Given the description of an element on the screen output the (x, y) to click on. 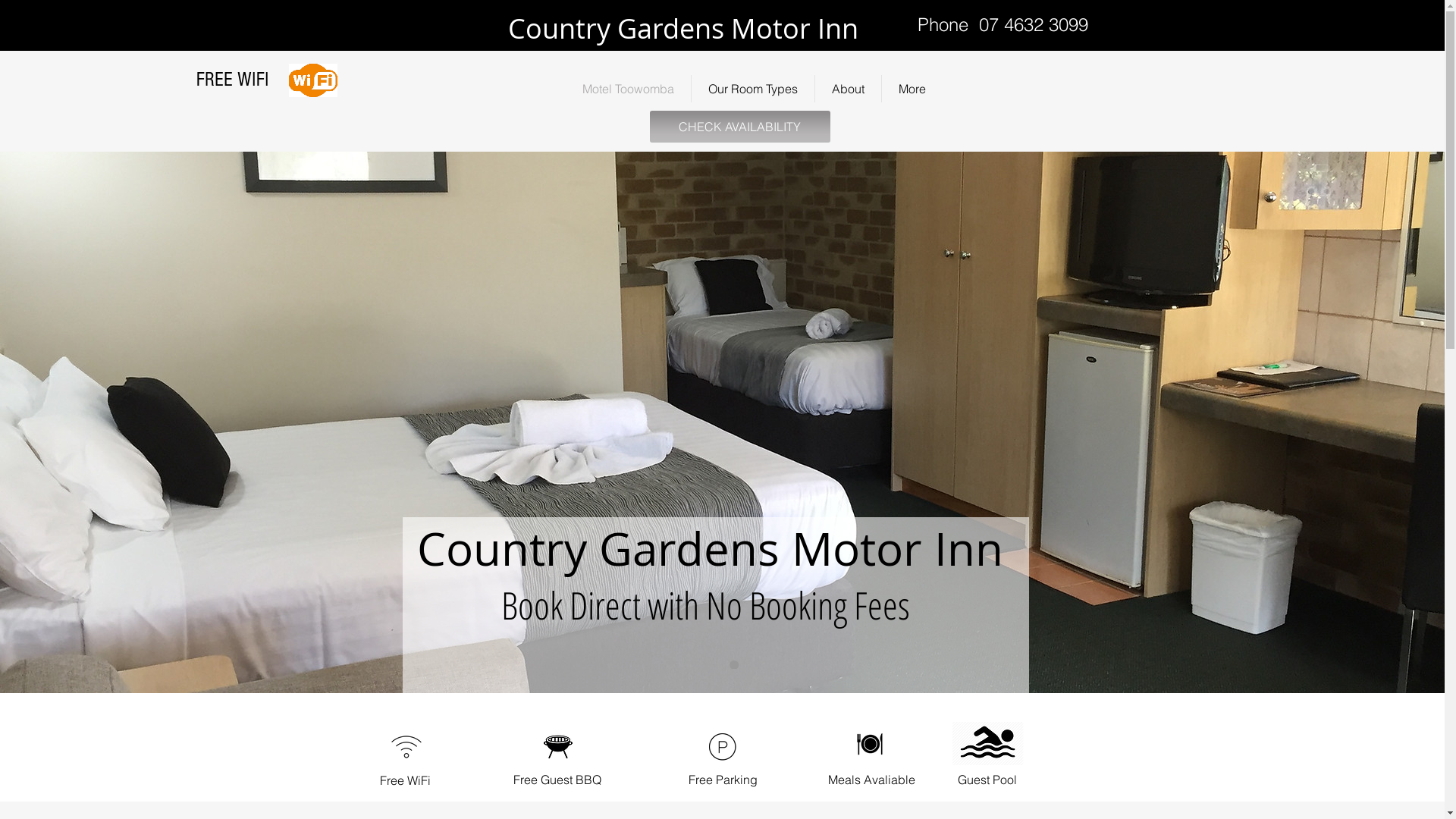
Motel Toowomba Element type: text (627, 88)
CHECK AVAILABILITY Element type: text (739, 126)
Our Room Types Element type: text (752, 88)
About Element type: text (848, 88)
Embedded Content Element type: hover (472, 98)
Embedded Content Element type: hover (295, 25)
